Given the description of an element on the screen output the (x, y) to click on. 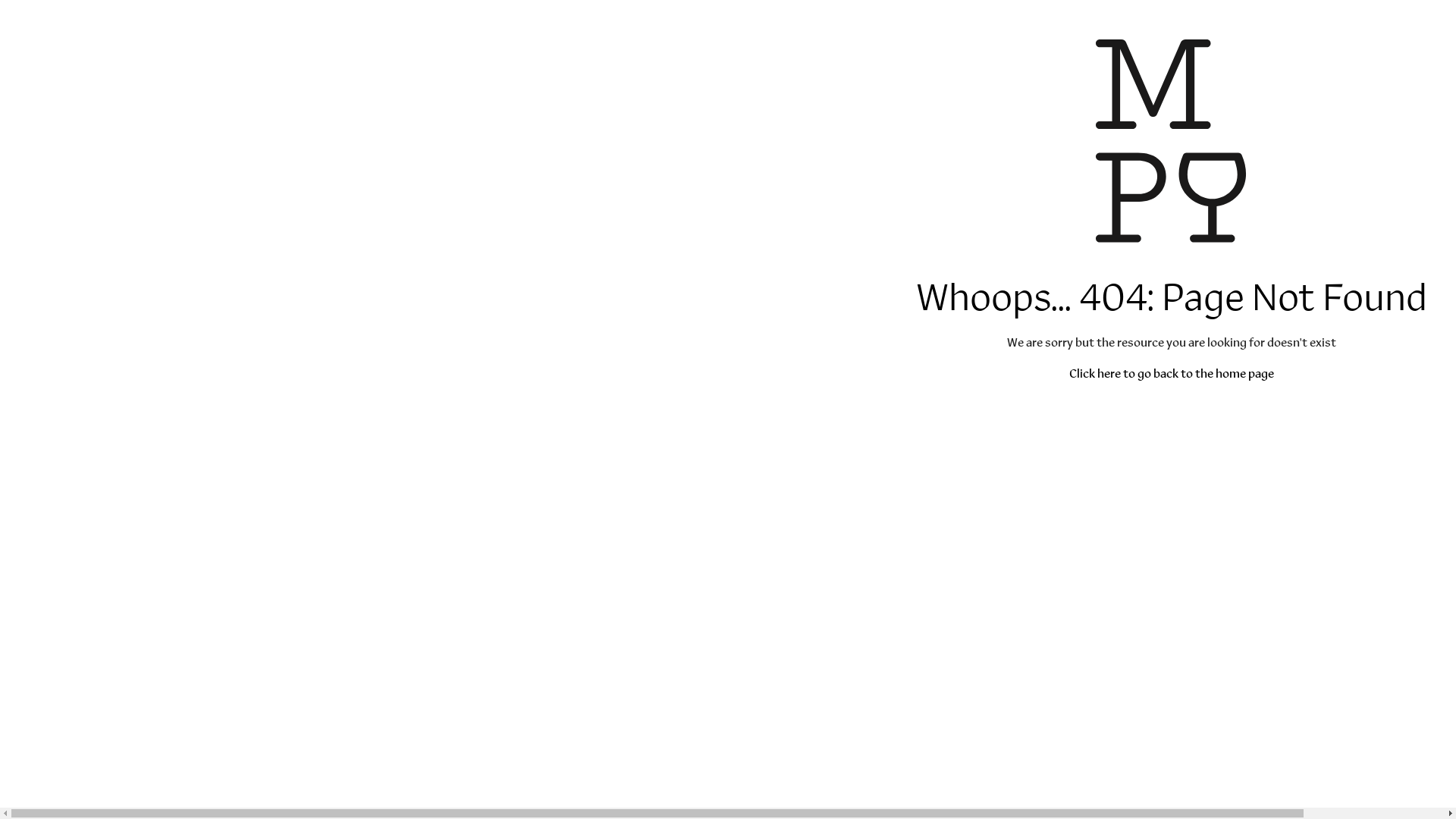
Click here to go back to the home page Element type: text (1171, 373)
